Given the description of an element on the screen output the (x, y) to click on. 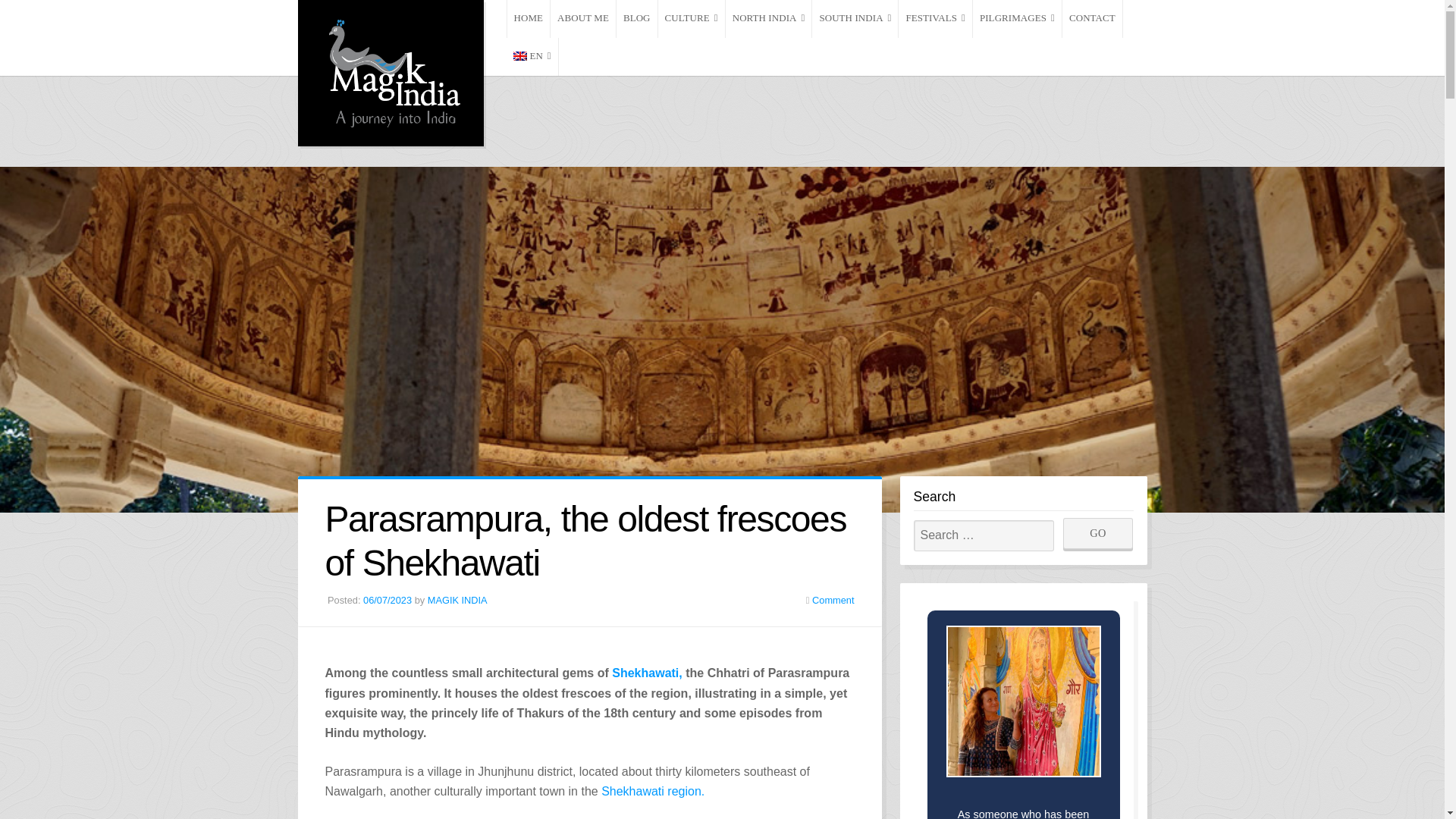
ABOUT ME (582, 18)
Go (1098, 532)
CULTURE (691, 18)
BLOG (636, 18)
NORTH INDIA (768, 18)
HOME (528, 18)
12:11 pm (387, 600)
View all posts by MAGIK INDIA (457, 600)
EN (531, 56)
